Given the description of an element on the screen output the (x, y) to click on. 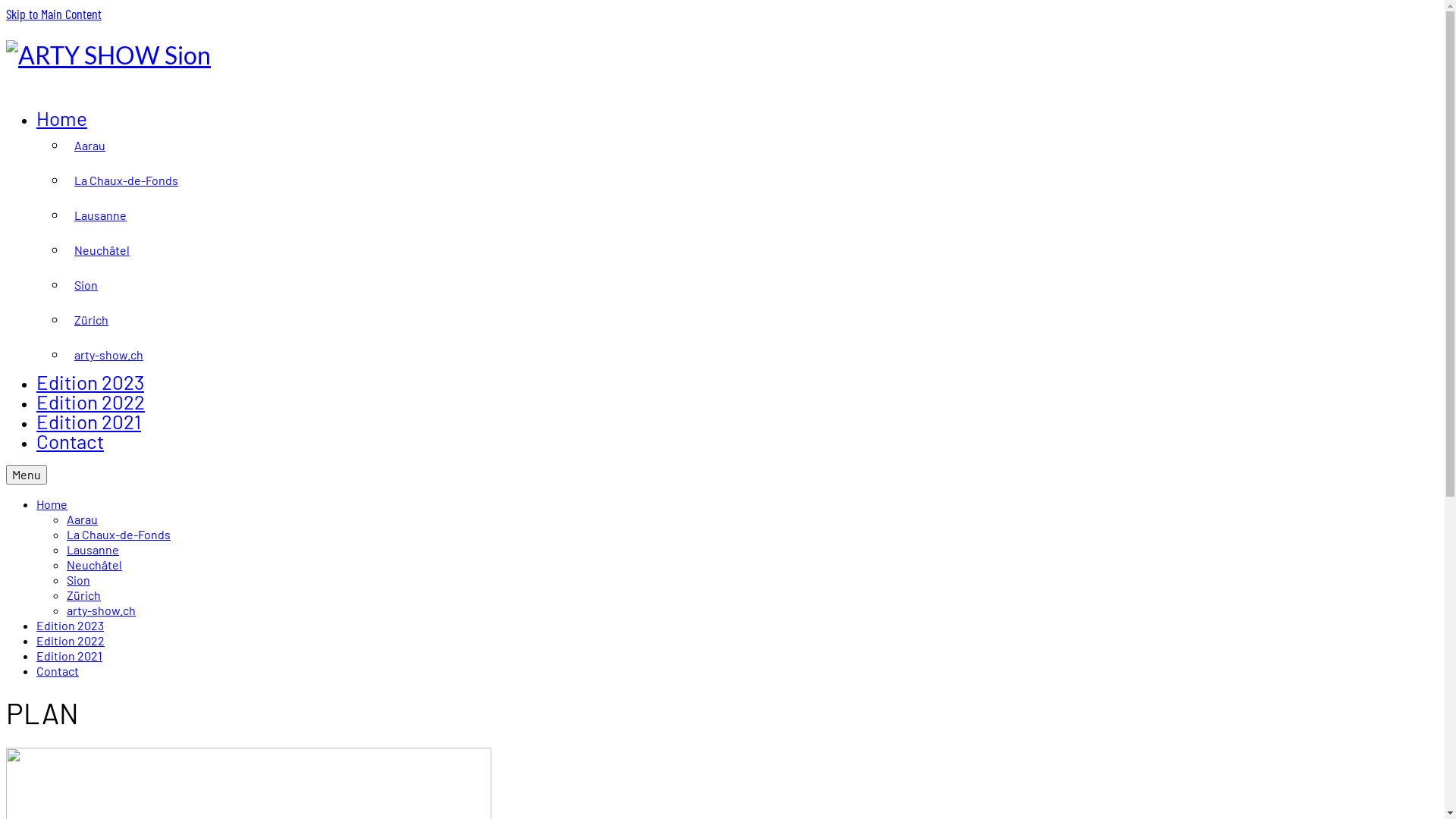
Edition 2022 Element type: text (70, 640)
Edition 2023 Element type: text (69, 625)
La Chaux-de-Fonds Element type: text (752, 180)
Home Element type: text (51, 503)
Edition 2021 Element type: text (69, 655)
Sion Element type: text (78, 579)
Contact Element type: text (69, 440)
arty-show.ch Element type: text (100, 609)
La Chaux-de-Fonds Element type: text (118, 534)
arty-show.ch Element type: text (752, 354)
Lausanne Element type: text (92, 549)
Edition 2022 Element type: text (90, 401)
Aarau Element type: text (752, 145)
Skip to Main Content Element type: text (53, 13)
Menu Element type: text (26, 474)
Aarau Element type: text (81, 518)
Edition 2021 Element type: text (88, 421)
Contact Element type: text (57, 670)
Edition 2023 Element type: text (90, 381)
Sion Element type: text (752, 284)
Lausanne Element type: text (752, 214)
Home Element type: text (61, 117)
